Given the description of an element on the screen output the (x, y) to click on. 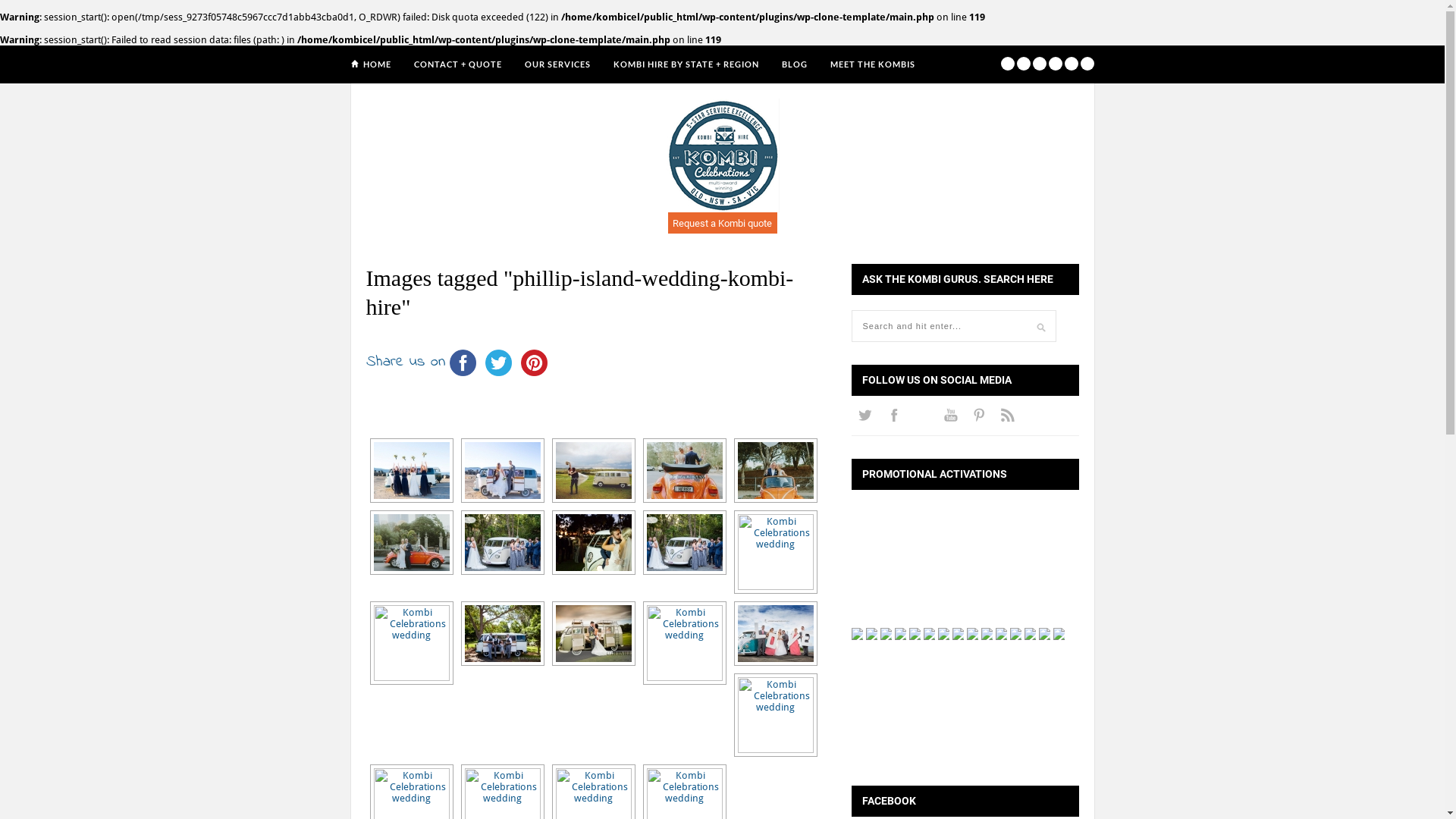
Kombi Celebrations wedding Element type: hover (501, 542)
CONTACT + QUOTE Element type: text (458, 64)
Twitter Element type: hover (498, 362)
BLOG Element type: text (793, 64)
Kombi Celebrations wedding Element type: hover (410, 470)
Kombi Celebrations wedding Element type: hover (501, 633)
Facebook Element type: hover (462, 362)
Share us on Element type: text (404, 362)
Pinterest Element type: hover (533, 362)
Kombi Celebrations wedding Element type: hover (774, 715)
Request a Kombi quote Element type: text (721, 222)
Kombi Celebrations wedding Element type: hover (592, 542)
Kombi Celebrations wedding Element type: hover (774, 633)
Kombi Celebrations wedding Element type: hover (592, 470)
Kombi Celebrations wedding Element type: hover (501, 470)
Kombi Celebrations wedding Element type: hover (683, 642)
Kombi Celebrations wedding Element type: hover (774, 551)
Kombi Celebrations wedding Element type: hover (410, 542)
Kombi Celebrations wedding Element type: hover (592, 633)
Kombi Celebrations wedding Element type: hover (774, 470)
OUR SERVICES Element type: text (557, 64)
KOMBI HIRE BY STATE + REGION Element type: text (685, 64)
MEET THE KOMBIS Element type: text (871, 64)
HOME Element type: text (376, 64)
Kombi Celebrations wedding Element type: hover (410, 642)
Kombi Celebrations wedding Element type: hover (683, 470)
Kombi Celebrations wedding Element type: hover (683, 542)
